Given the description of an element on the screen output the (x, y) to click on. 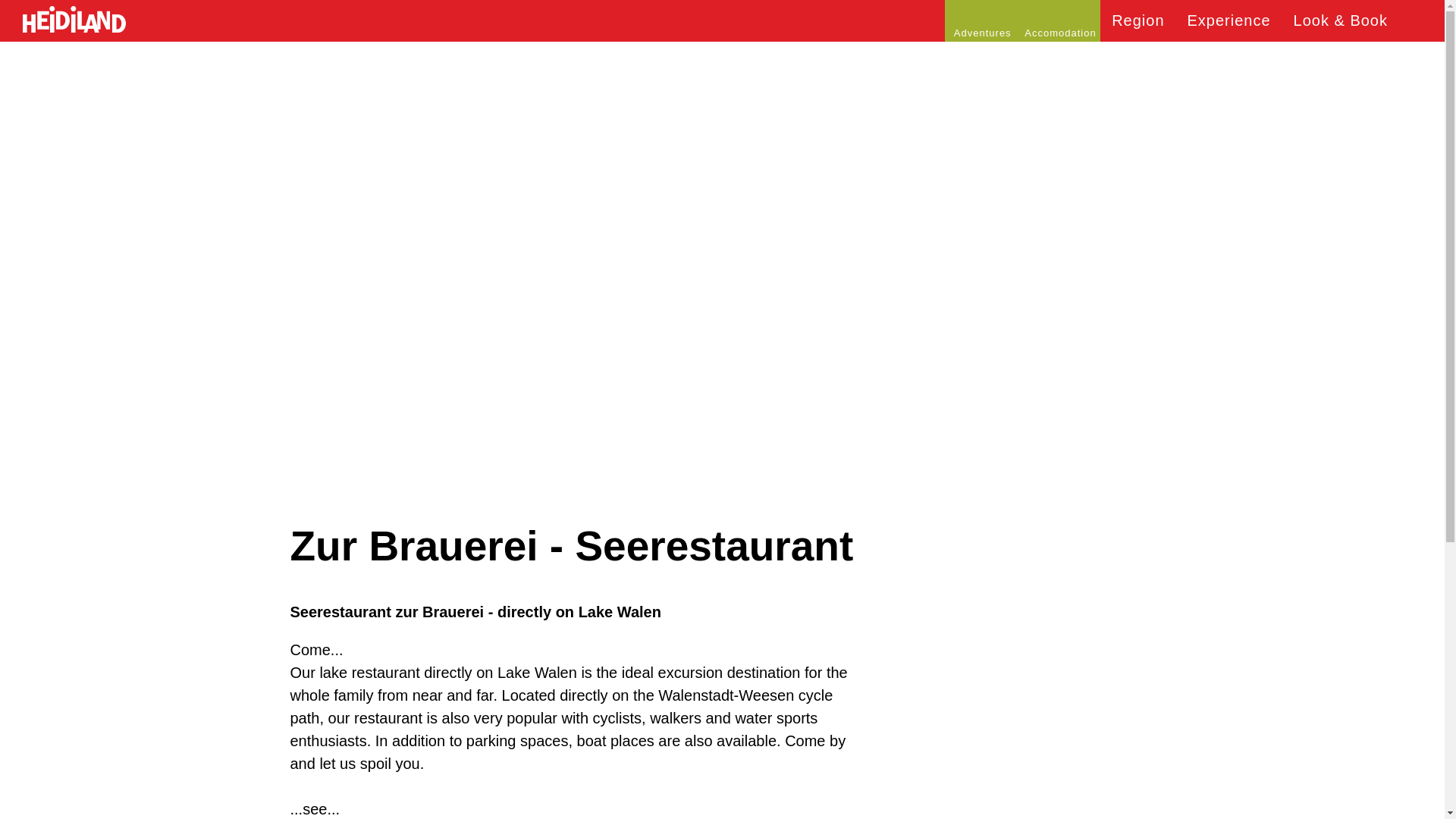
Adventures (982, 20)
Experience (1229, 20)
Adventures (982, 20)
Accomodation (1060, 20)
Accomodation (1060, 20)
Region (1137, 20)
